Given the description of an element on the screen output the (x, y) to click on. 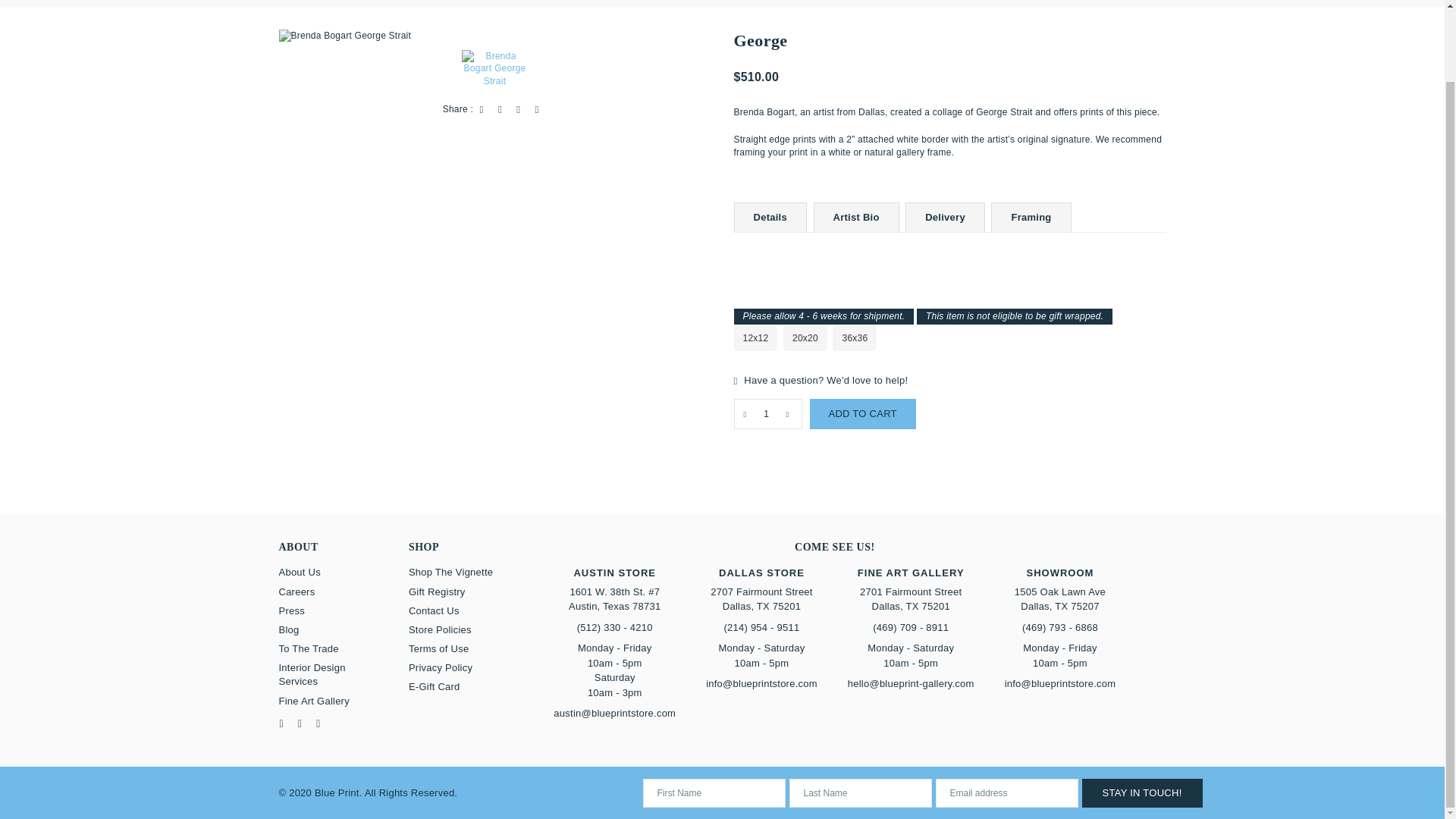
Tweet on Twitter (500, 109)
Share by Email (537, 109)
Pin on Pinterest (518, 109)
Share on Facebook (481, 109)
Quantity (767, 413)
